Given the description of an element on the screen output the (x, y) to click on. 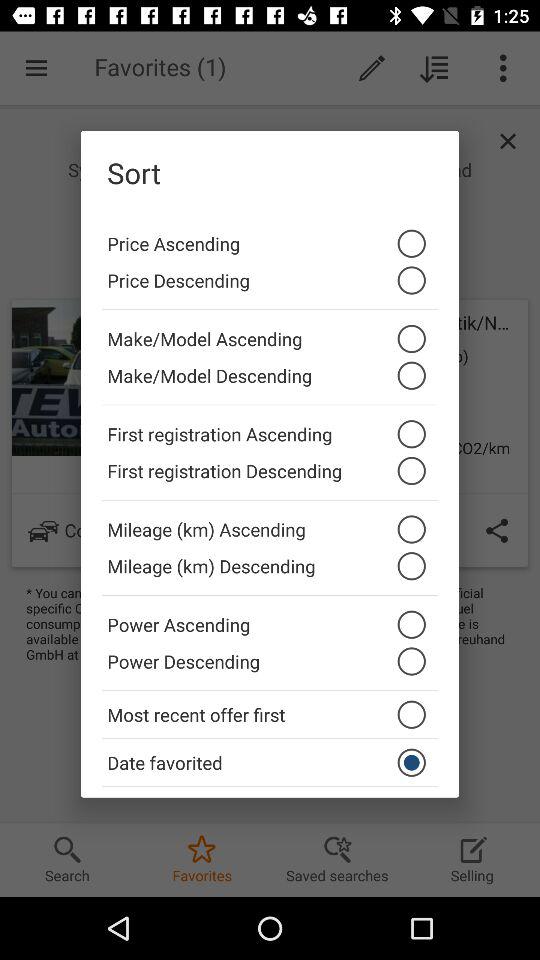
press the price ascending icon (269, 238)
